Given the description of an element on the screen output the (x, y) to click on. 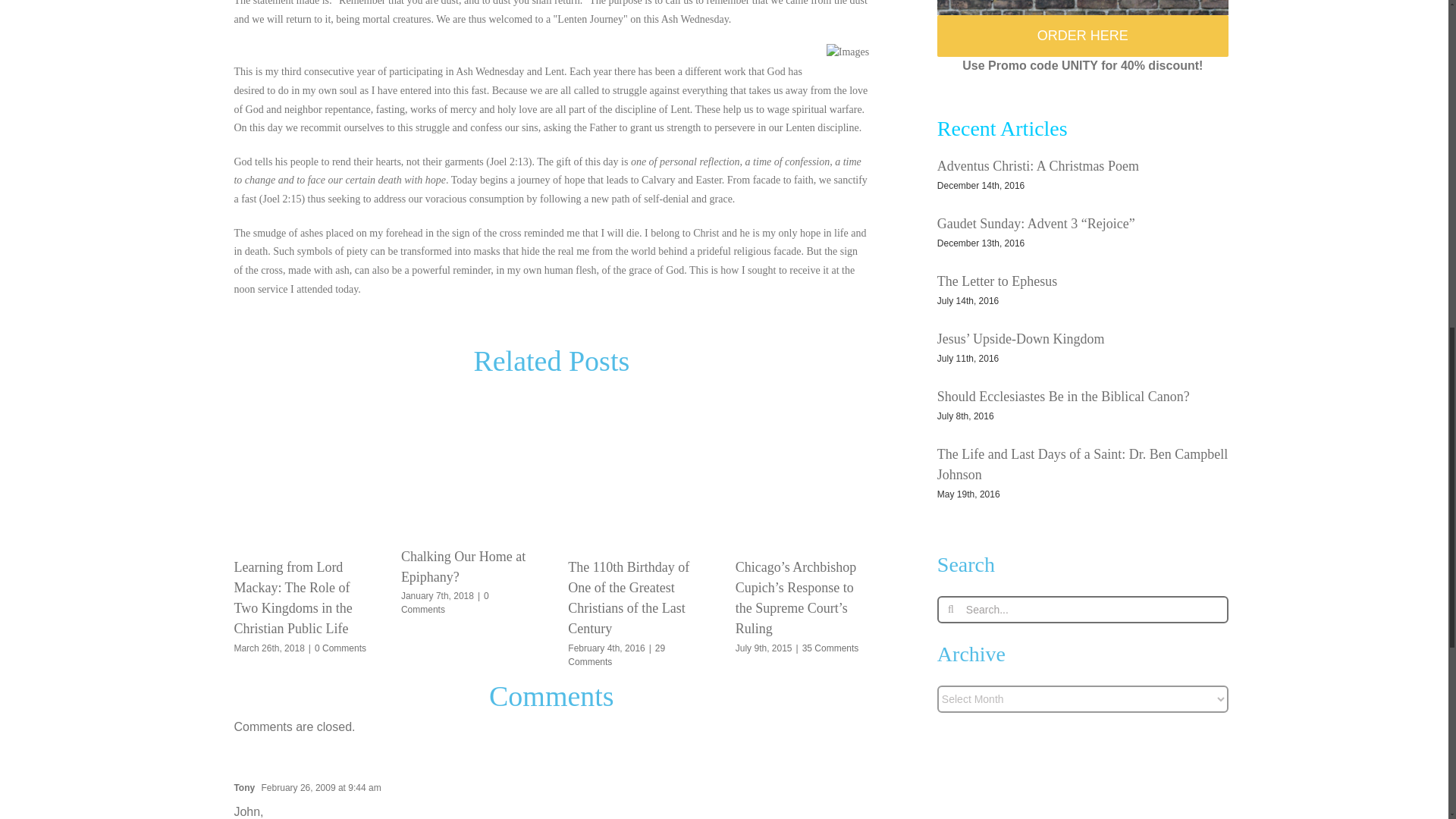
Chalking Our Home at Epiphany? (463, 566)
29 Comments (616, 654)
Chalking Our Home at Epiphany? (463, 566)
By the A-1 (1082, 7)
ORDER HERE (1082, 35)
Adventus Christi: A Christmas Poem (1037, 165)
35 Comments (830, 647)
0 Comments (340, 647)
